Given the description of an element on the screen output the (x, y) to click on. 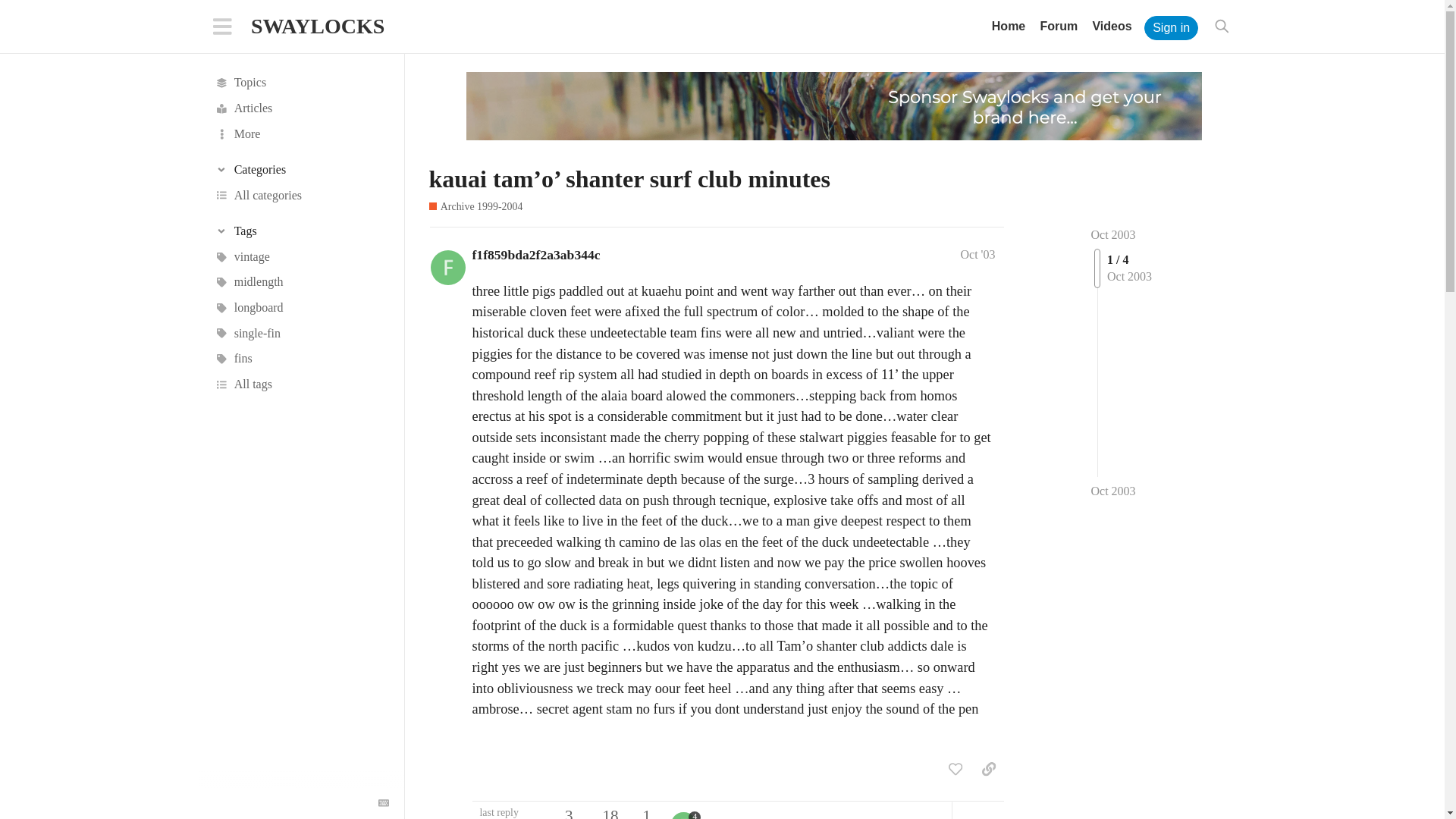
Categories (301, 169)
Videos (1111, 25)
Forum (1058, 25)
last reply (508, 812)
Home (1008, 25)
Keyboard Shortcuts (384, 802)
4 (684, 815)
All topics (301, 83)
More (301, 134)
All tags (301, 384)
Oct 2003 (1112, 234)
The first four and a half years. (475, 206)
Home (1008, 25)
longboard (301, 307)
Sidebar (222, 25)
